Given the description of an element on the screen output the (x, y) to click on. 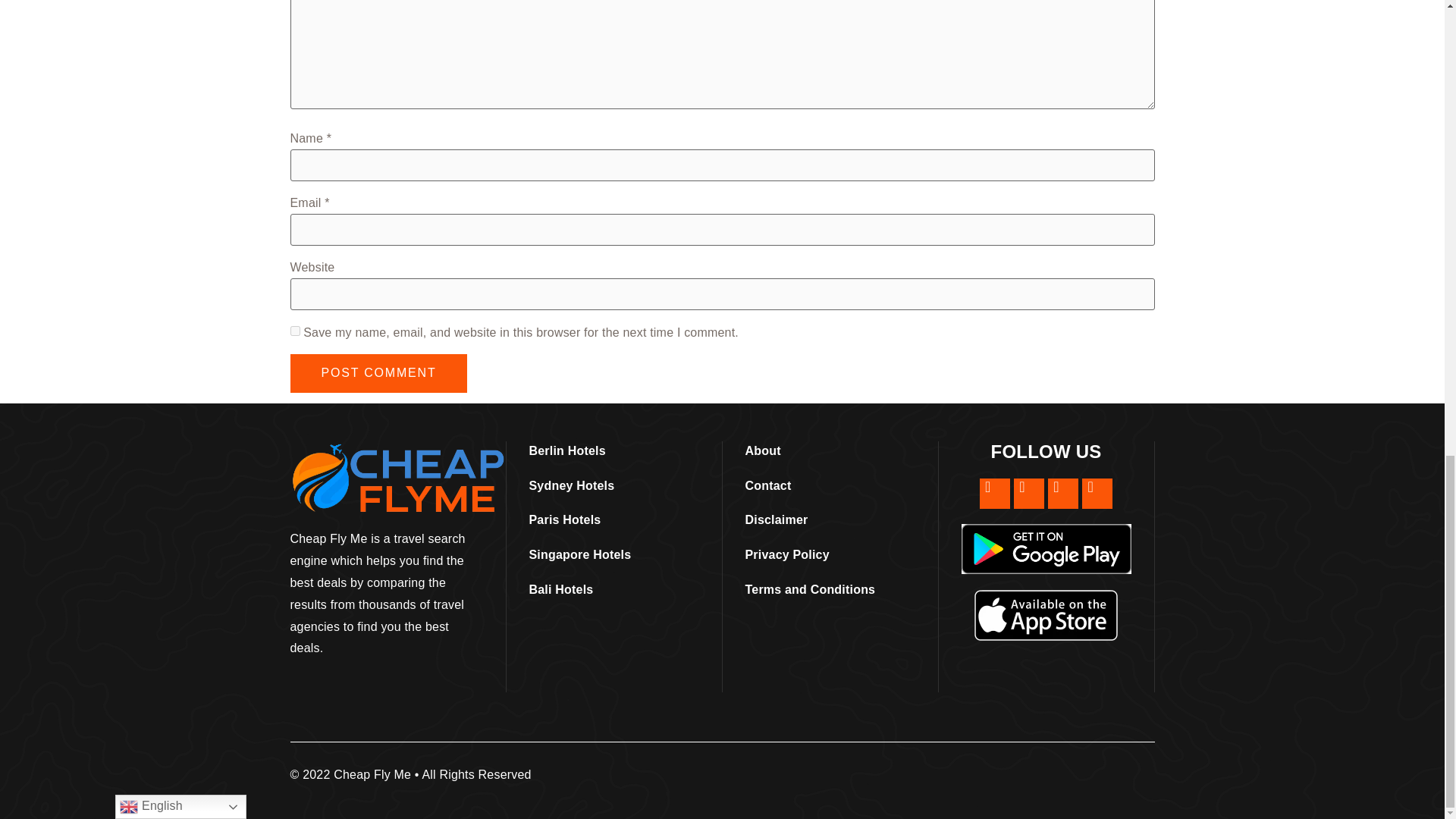
Post Comment (378, 373)
yes (294, 330)
Post Comment (378, 373)
